Given the description of an element on the screen output the (x, y) to click on. 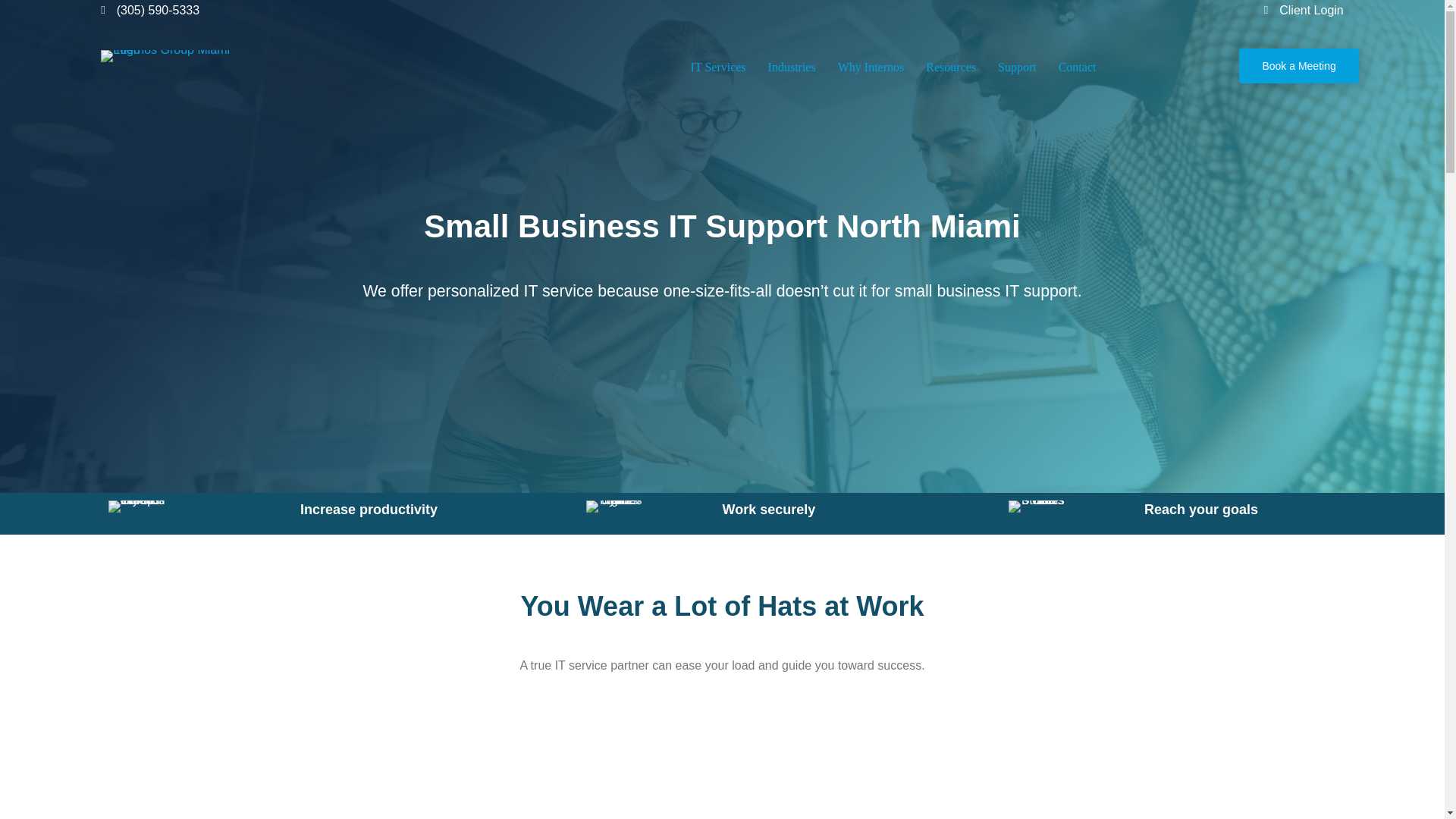
Contact (1077, 67)
Support (1016, 67)
Book a Meeting (1298, 66)
IT Services (718, 67)
Industries (792, 67)
Client Login (1311, 9)
Why Internos (871, 67)
Resources (951, 67)
